Given the description of an element on the screen output the (x, y) to click on. 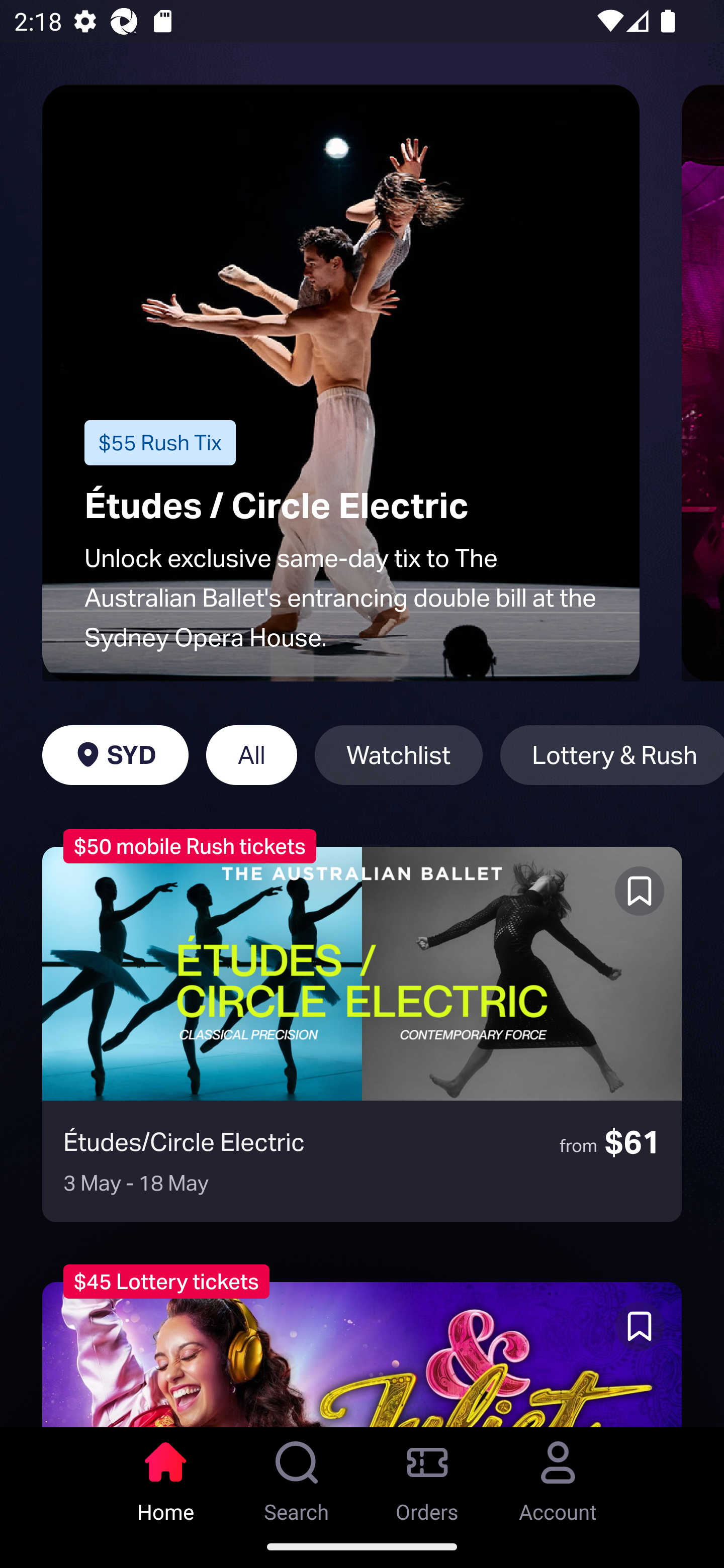
SYD (114, 754)
All (251, 754)
Watchlist (398, 754)
Lottery & Rush (612, 754)
Études/Circle Electric from $61 3 May - 18 May (361, 1033)
Search (296, 1475)
Orders (427, 1475)
Account (558, 1475)
